Given the description of an element on the screen output the (x, y) to click on. 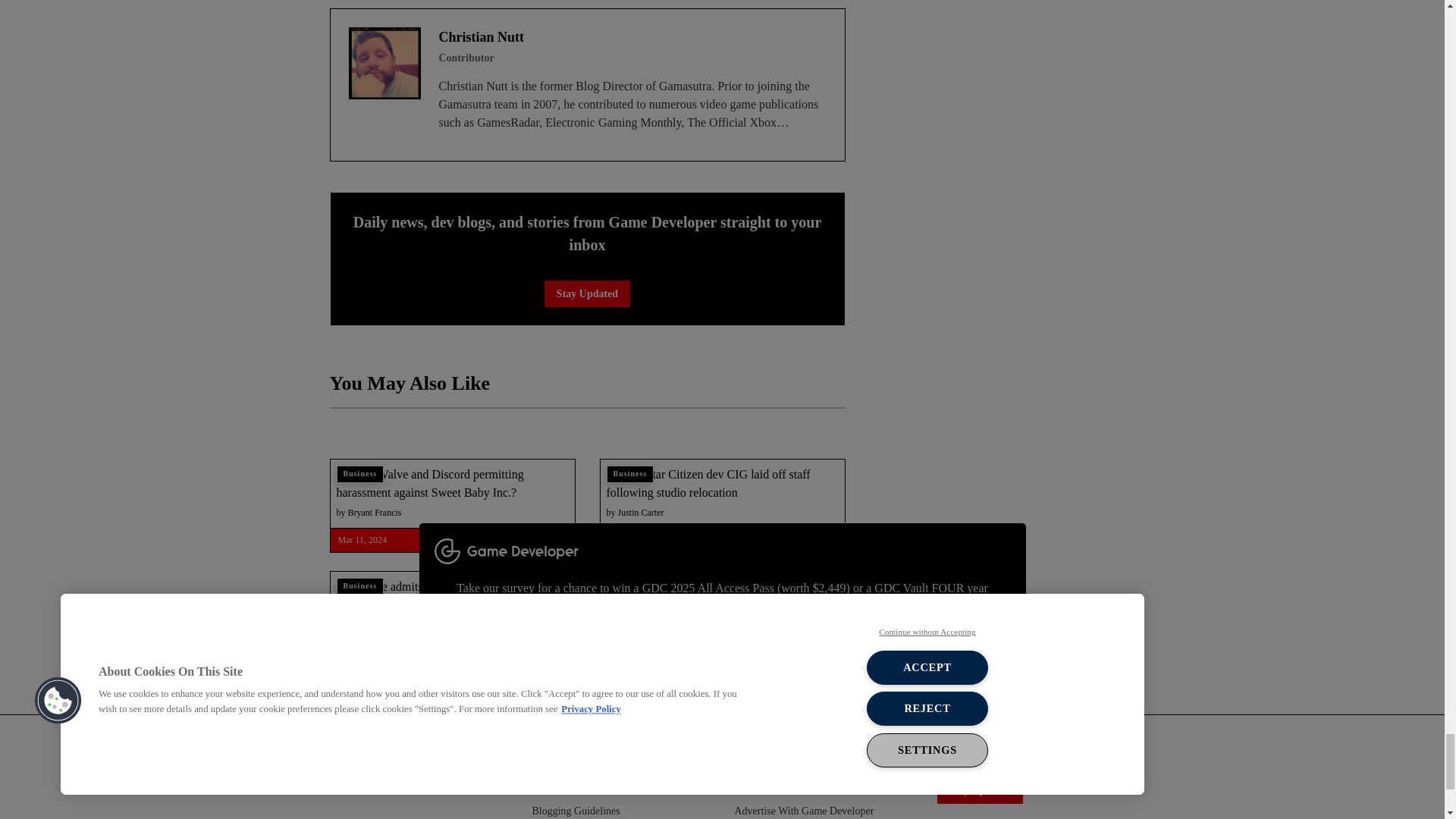
Christian Nutt (384, 63)
